Given the description of an element on the screen output the (x, y) to click on. 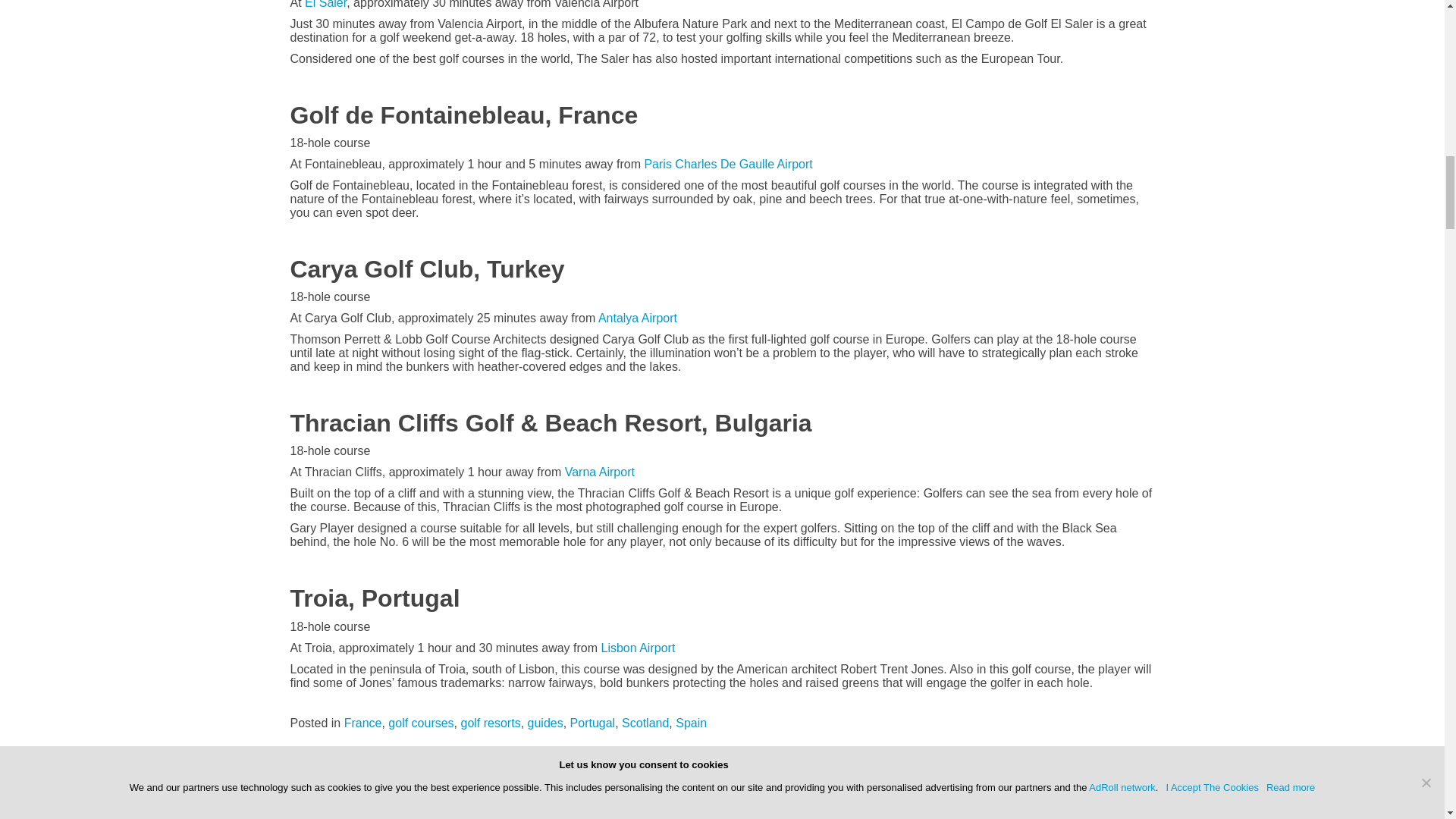
Portugal (592, 722)
Antalya Airport (637, 318)
guides (545, 722)
France (362, 722)
Spain (690, 722)
Scotland (644, 722)
El Saler (325, 4)
Paris Charles De Gaulle Airport (727, 164)
Lisbon Airport (637, 647)
Varna Airport (599, 472)
golf resorts (491, 722)
golf courses (420, 722)
